Given the description of an element on the screen output the (x, y) to click on. 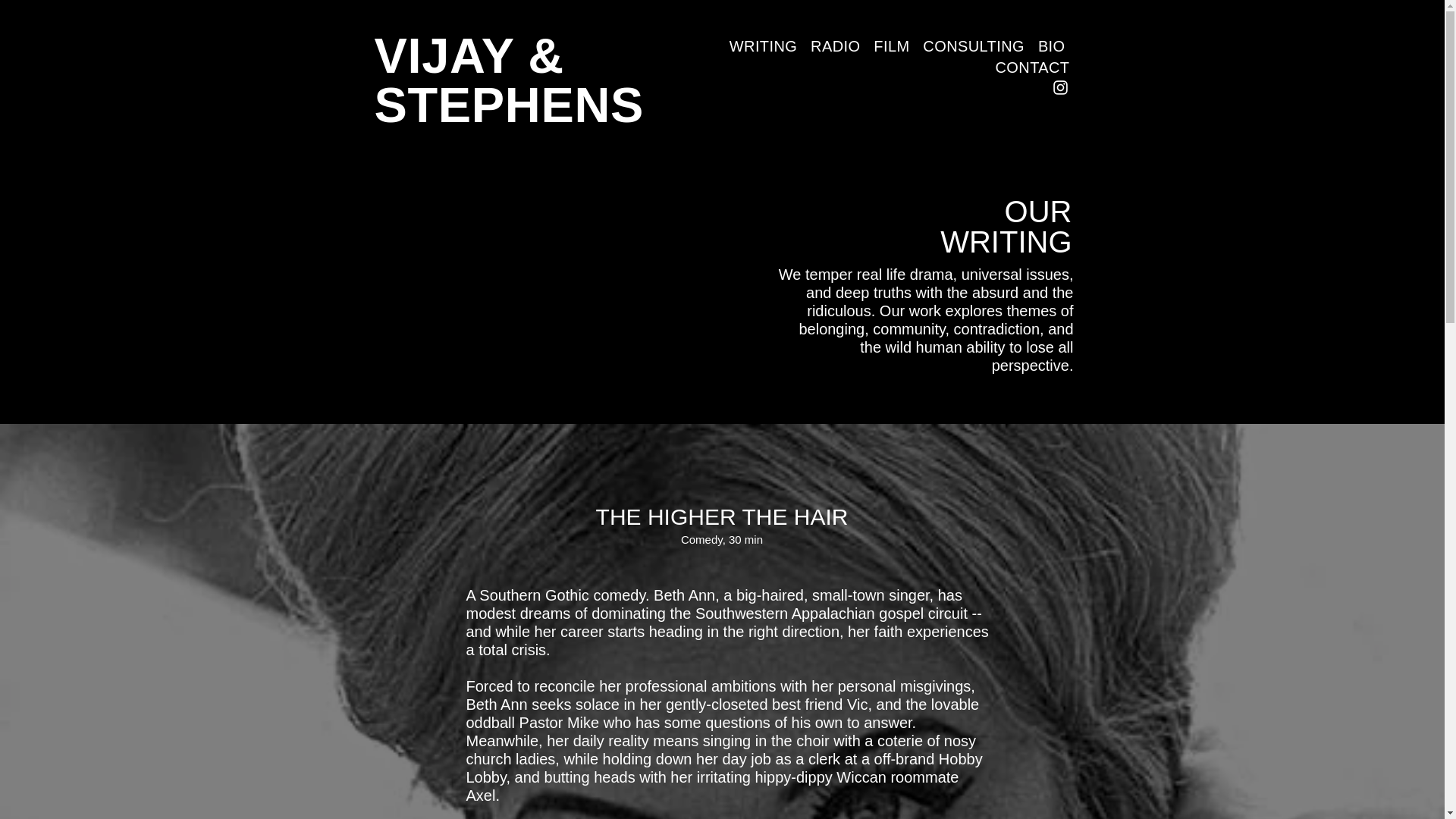
CONSULTING (974, 45)
CONTACT (1032, 67)
WRITING (762, 45)
RADIO (835, 45)
BIO (1051, 45)
FILM (890, 45)
